Given the description of an element on the screen output the (x, y) to click on. 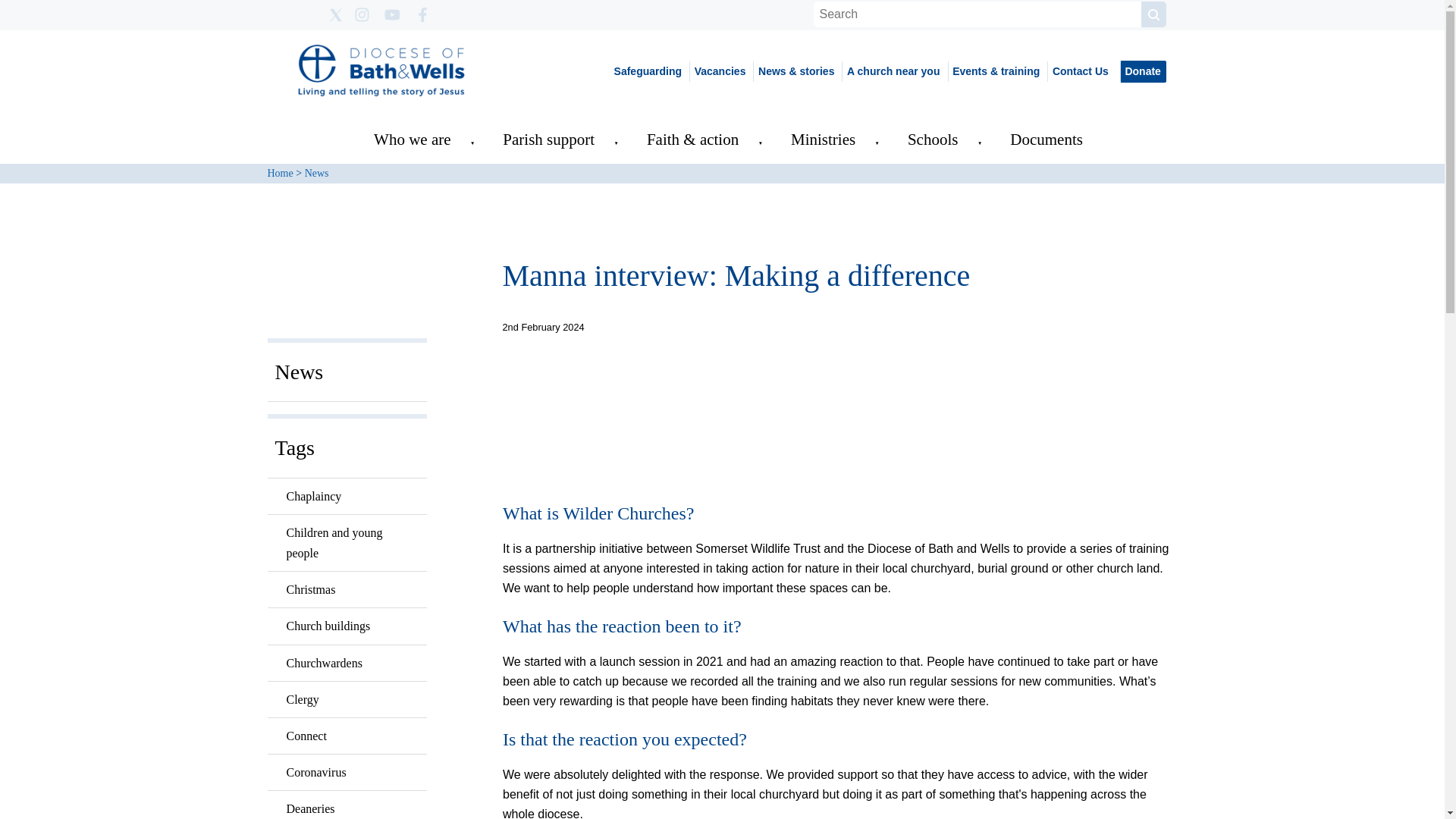
Contact Us (1079, 71)
Logo (381, 70)
Donate (1142, 71)
